Given the description of an element on the screen output the (x, y) to click on. 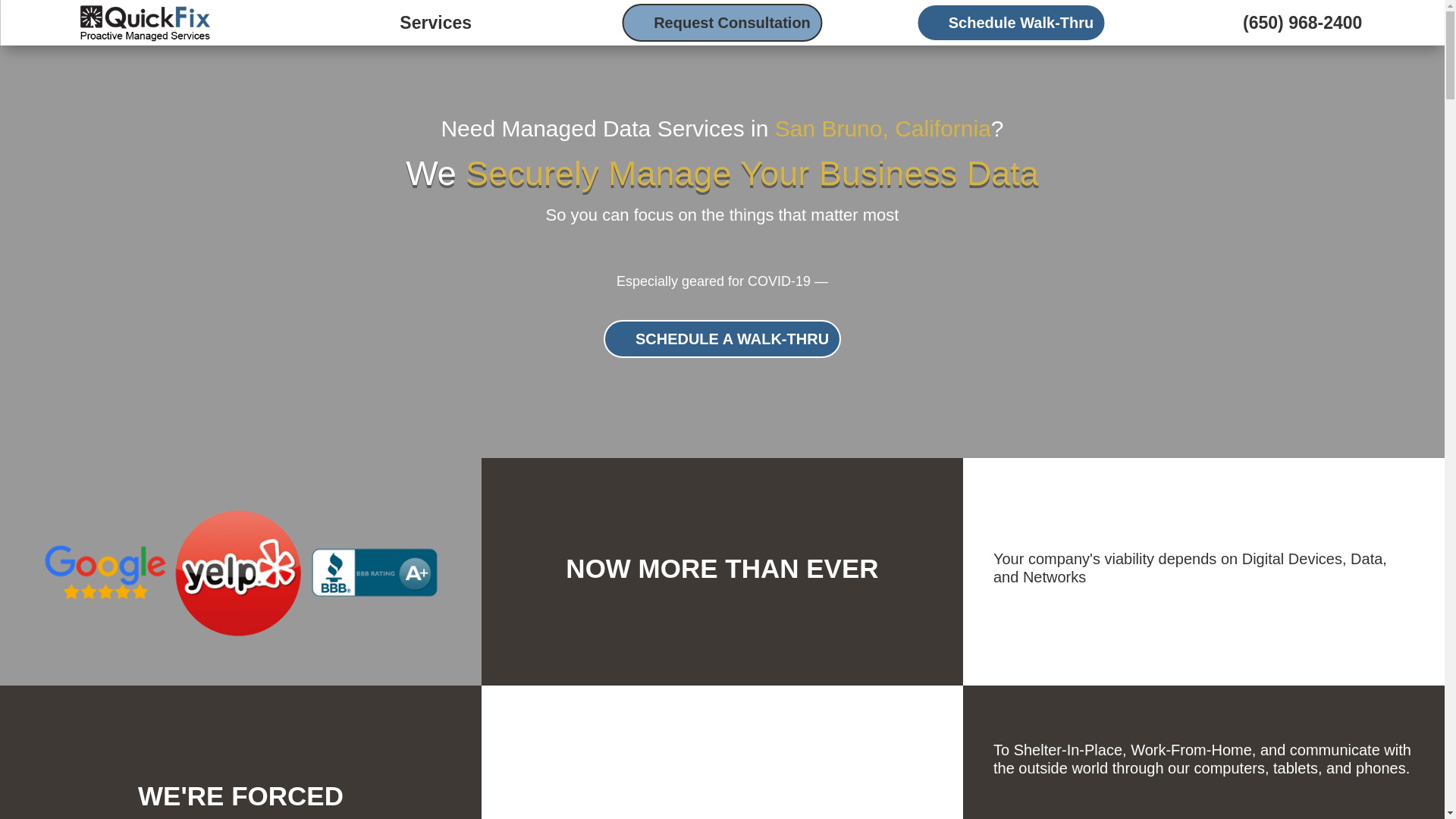
trsuted-by (240, 571)
qf-managed services - logo (144, 22)
Request Consultation (721, 22)
SCHEDULE A WALK-THRU (722, 338)
Schedule Walk-Thru (1011, 22)
